Given the description of an element on the screen output the (x, y) to click on. 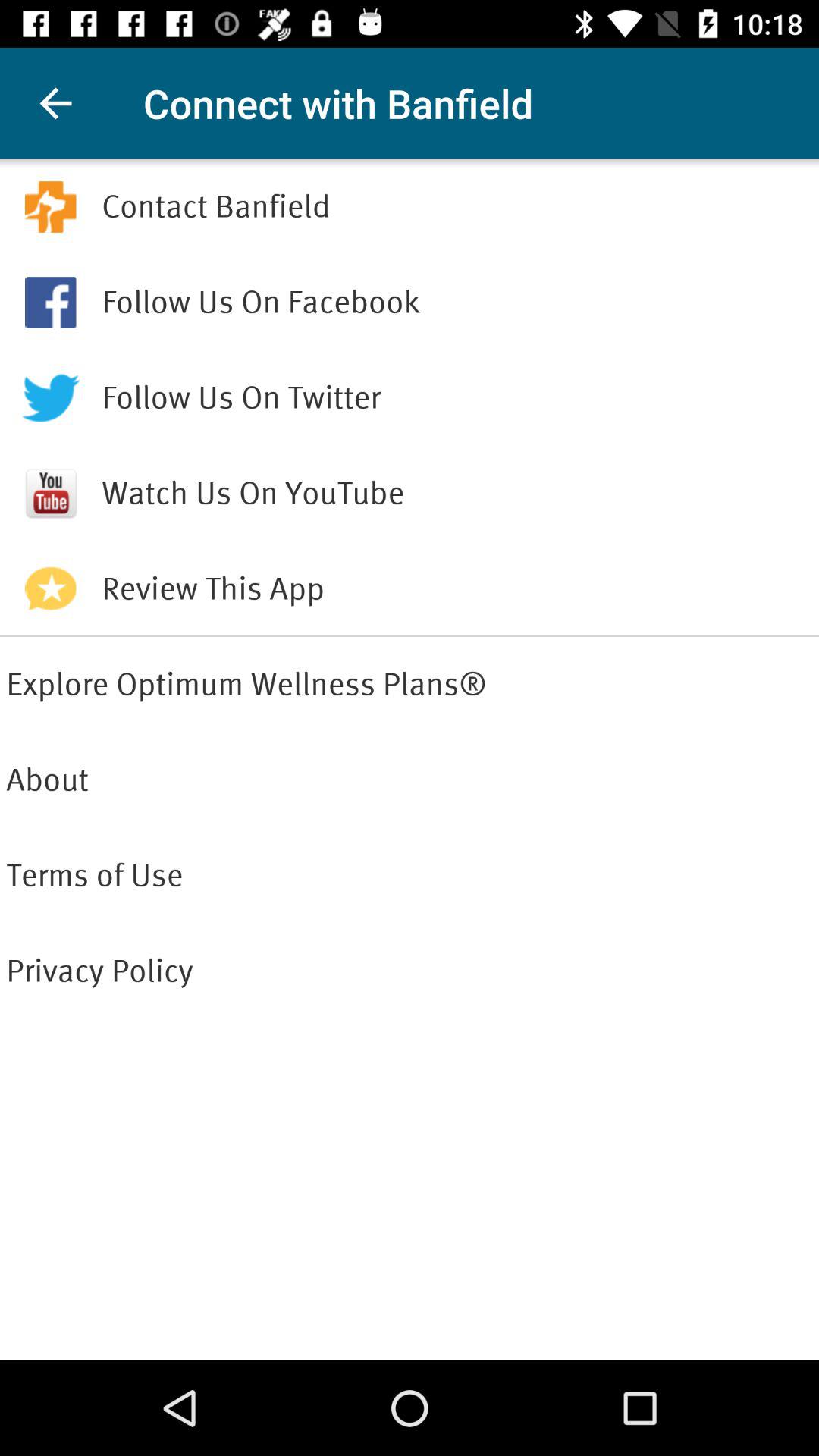
turn on the item above explore optimum wellness icon (409, 635)
